Given the description of an element on the screen output the (x, y) to click on. 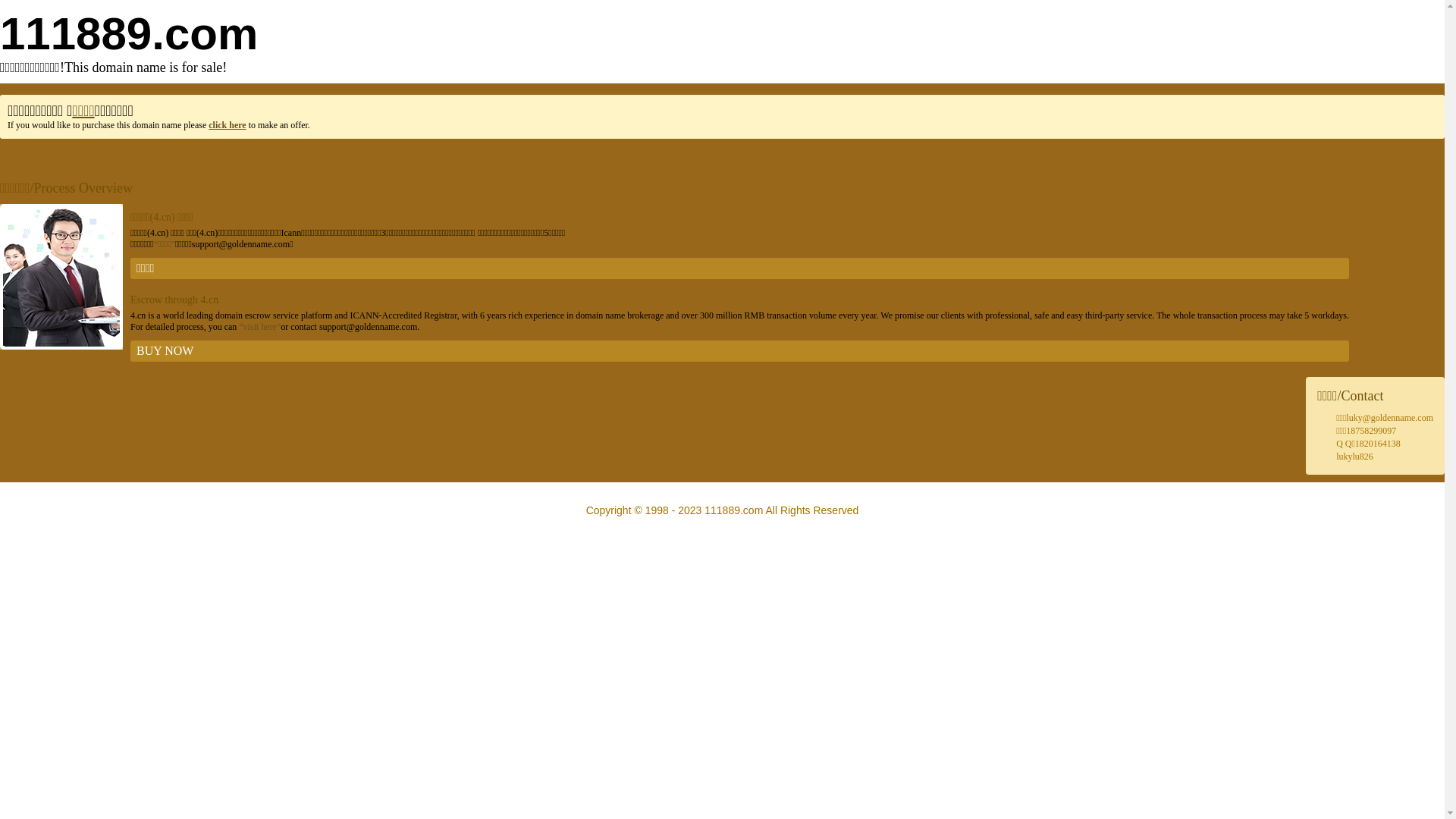
BUY NOW Element type: text (739, 350)
click here Element type: text (226, 124)
